Given the description of an element on the screen output the (x, y) to click on. 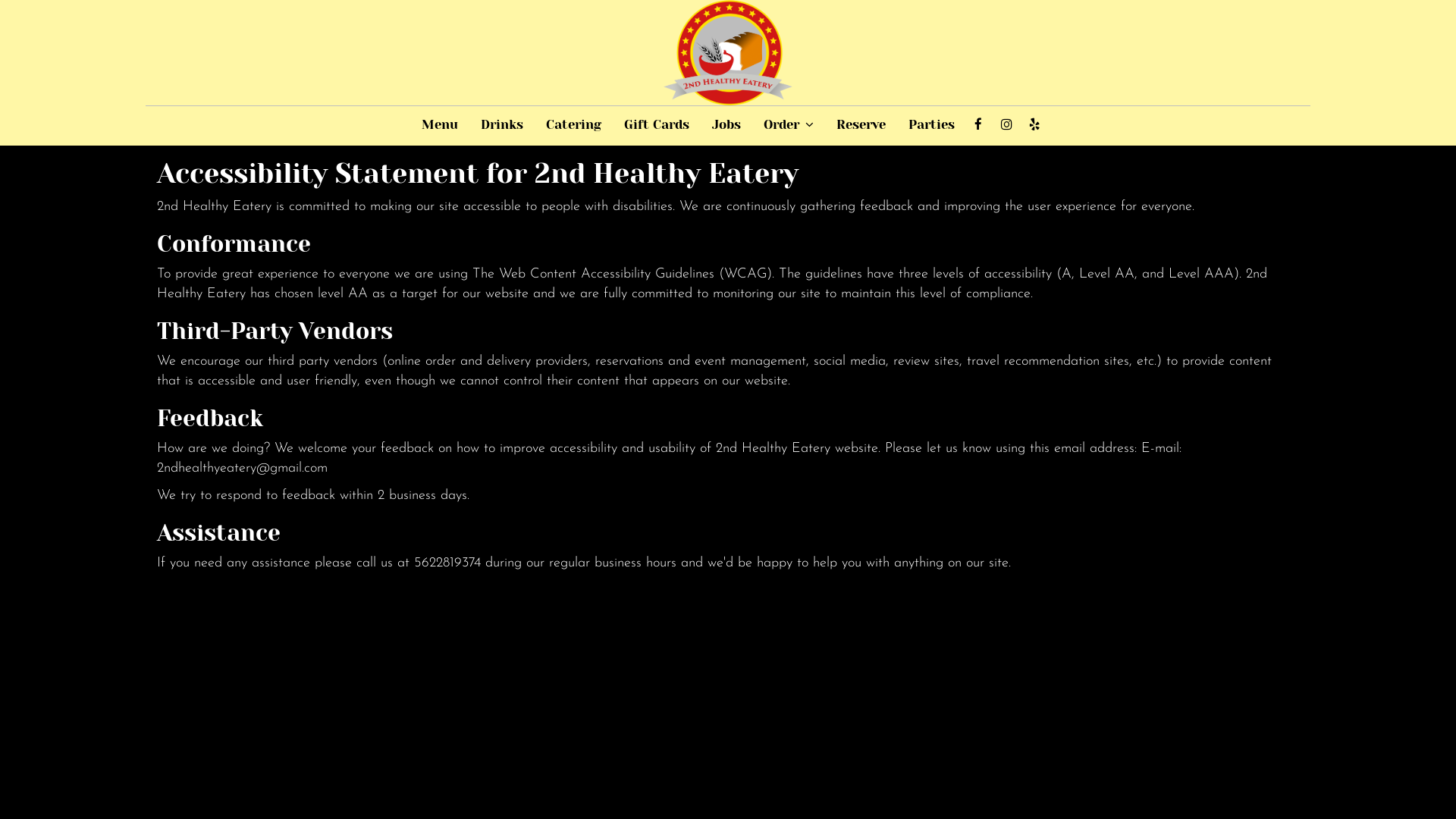
Reserve Element type: text (861, 124)
Jobs Element type: text (726, 124)
Parties Element type: text (930, 124)
Menu Element type: text (438, 124)
Order Element type: text (788, 124)
Catering Element type: text (572, 124)
2ndhealthyeatery@gmail.com Element type: text (241, 468)
5622819374 Element type: text (447, 562)
Gift Cards Element type: text (656, 124)
Drinks Element type: text (500, 124)
